Given the description of an element on the screen output the (x, y) to click on. 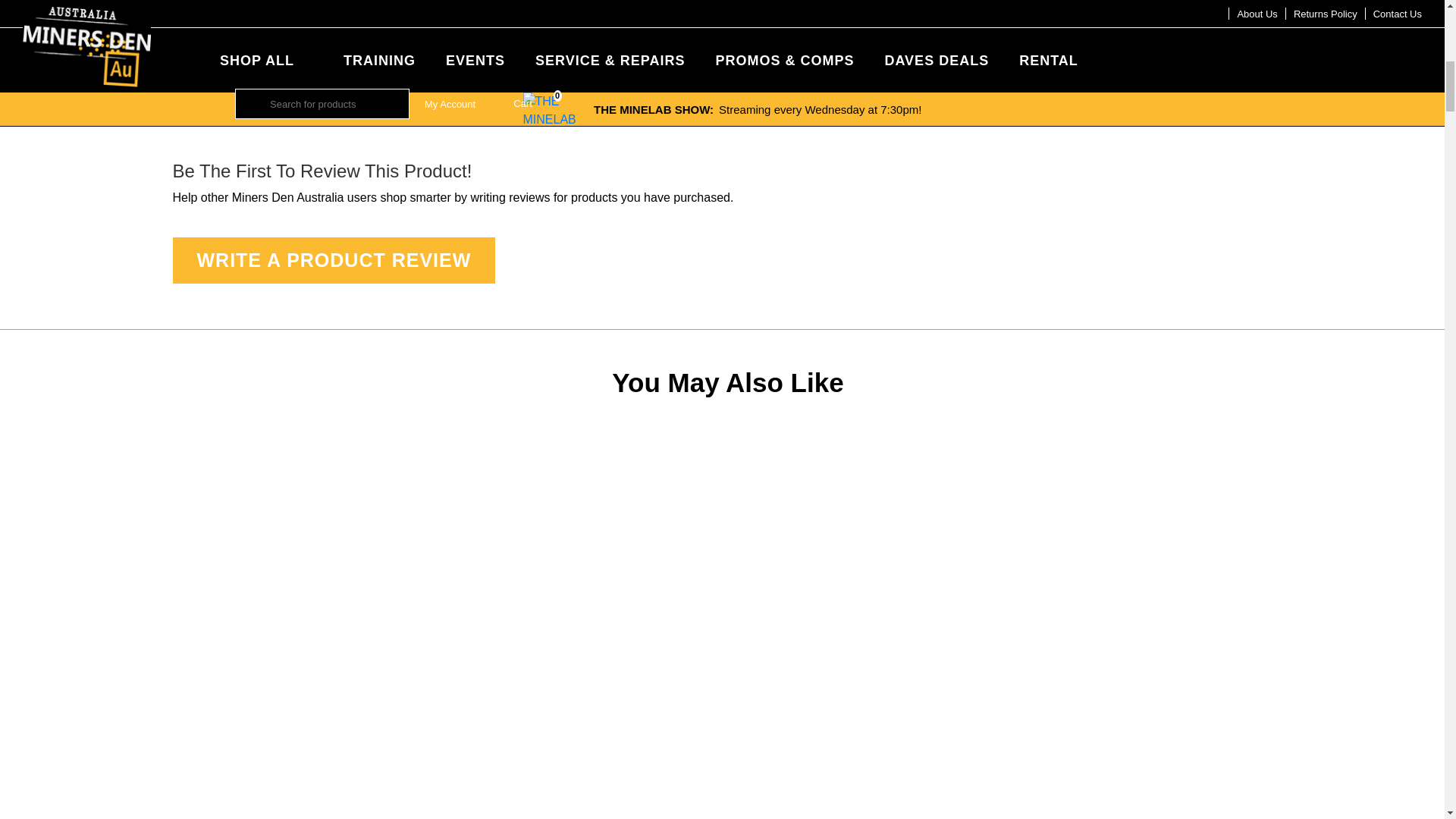
1 (792, 36)
Add Minelab Armrest Kit E-TRAC - Explorer - Safari to Cart (1079, 36)
